Given the description of an element on the screen output the (x, y) to click on. 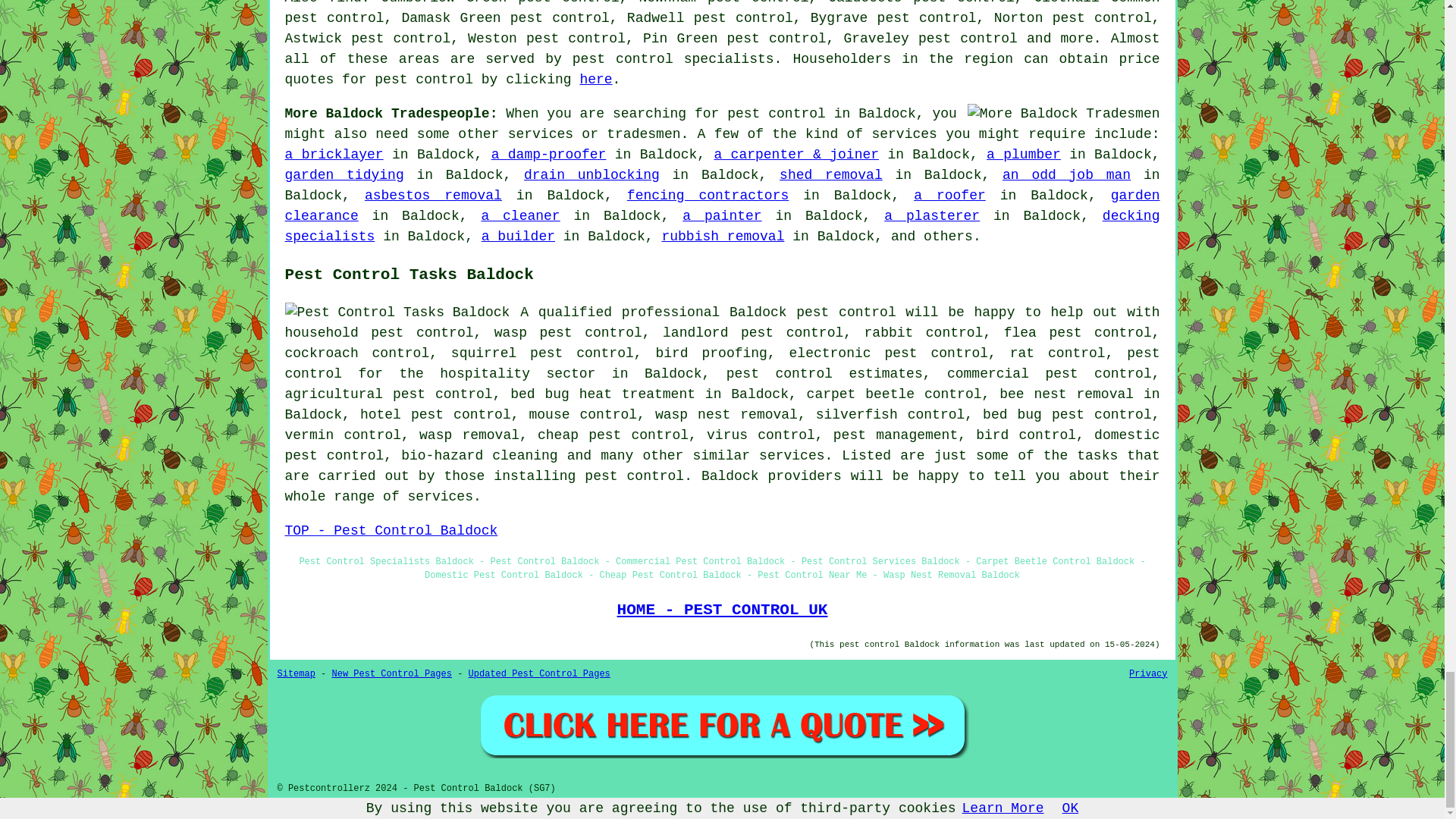
More Baldock Tradesmen (1064, 114)
household pest control (379, 332)
Pest Control Tasks Baldock (398, 312)
pest control (845, 312)
